Given the description of an element on the screen output the (x, y) to click on. 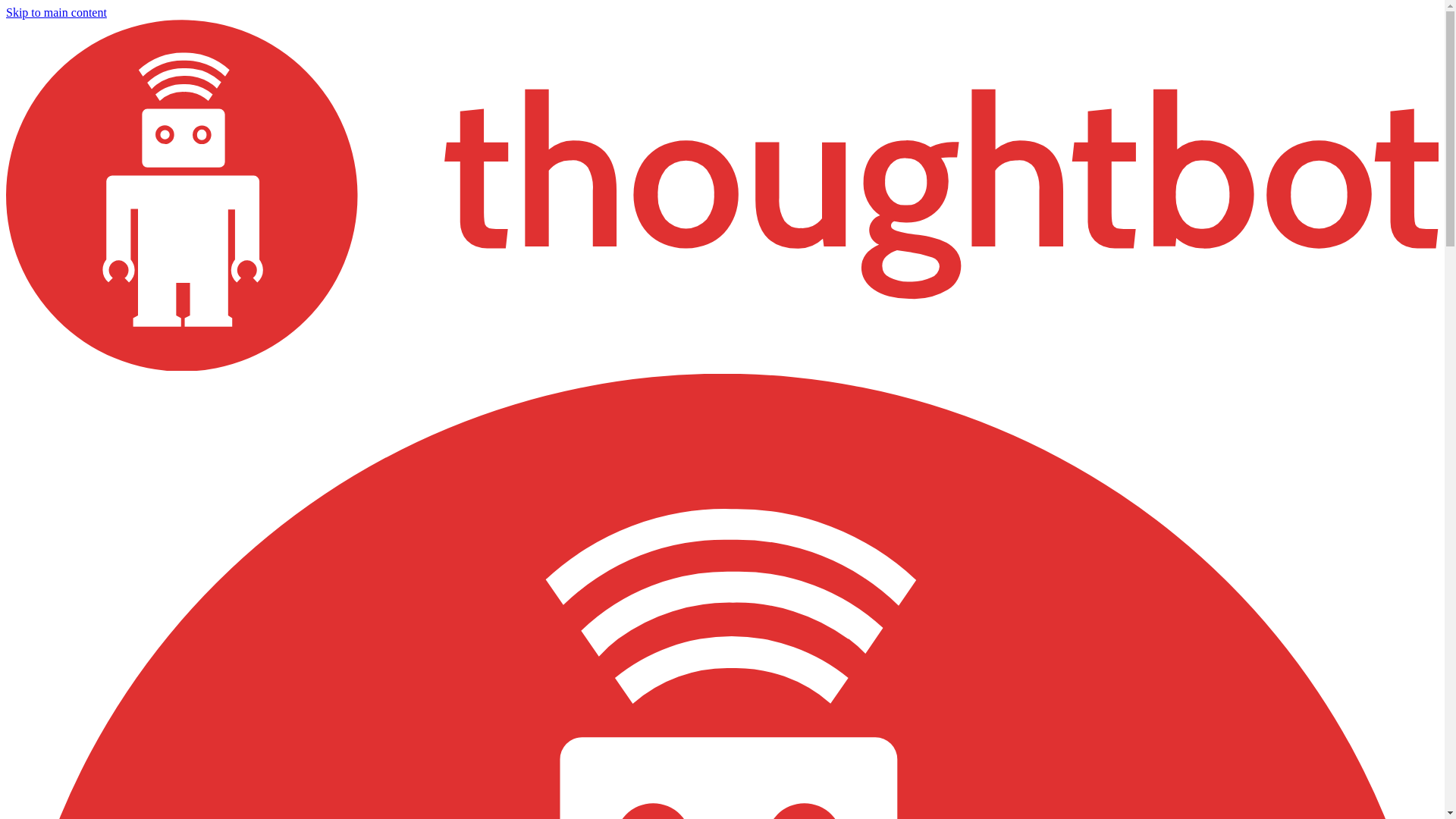
Skip to main content (55, 11)
